Given the description of an element on the screen output the (x, y) to click on. 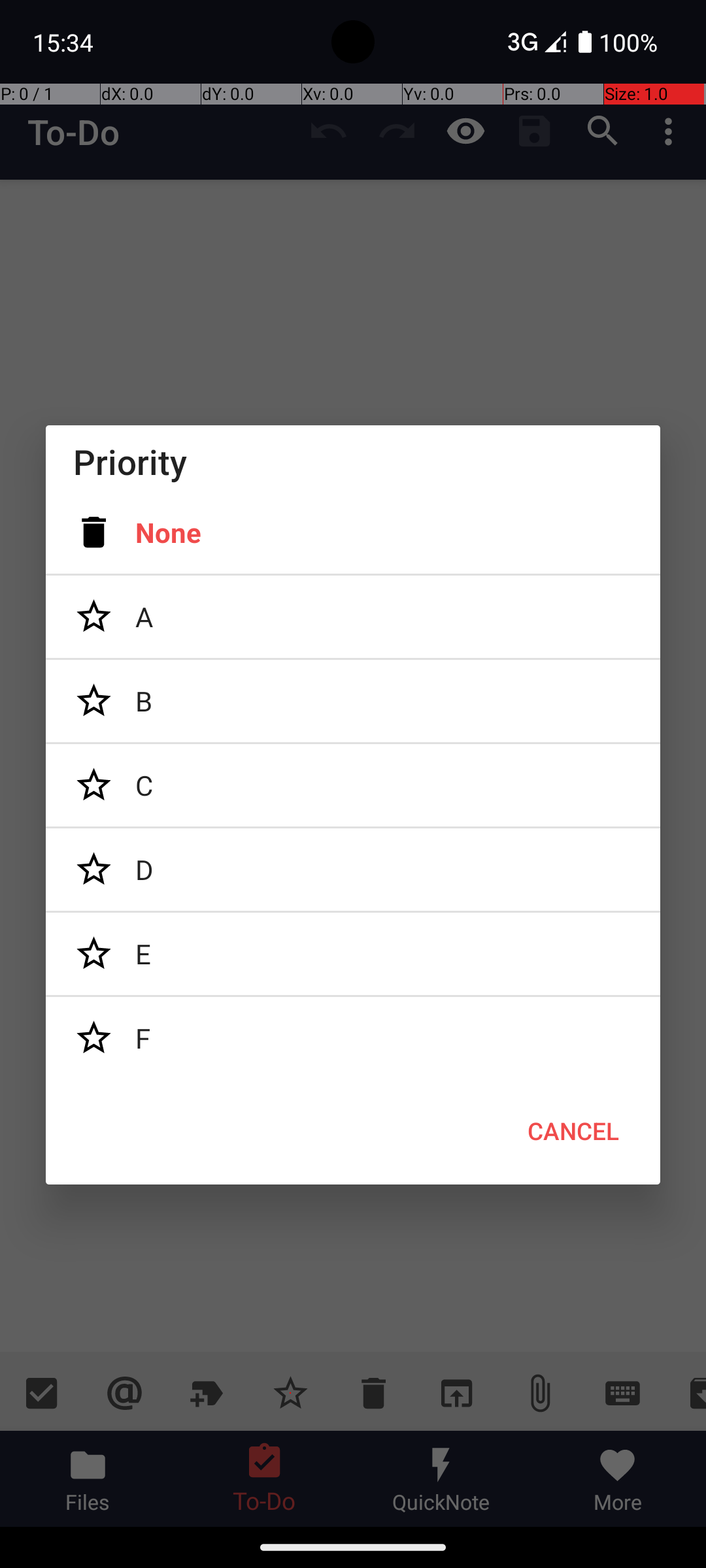
Priority Element type: android.widget.TextView (352, 461)
None Element type: android.widget.TextView (352, 532)
A Element type: android.widget.TextView (352, 616)
B Element type: android.widget.TextView (352, 700)
C Element type: android.widget.TextView (352, 785)
D Element type: android.widget.TextView (352, 869)
E Element type: android.widget.TextView (352, 953)
